Given the description of an element on the screen output the (x, y) to click on. 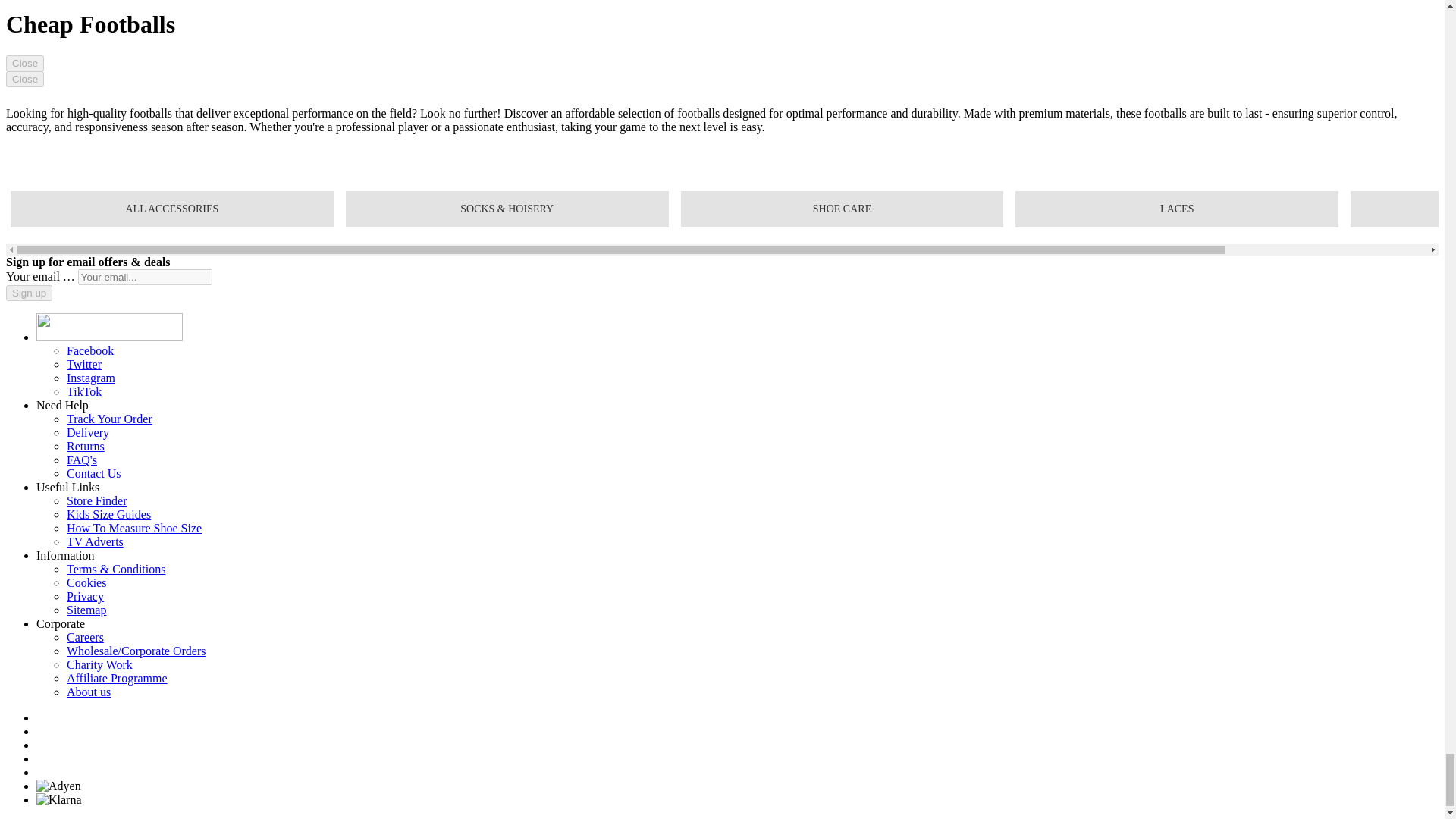
Close (24, 78)
Sign up (28, 293)
Close (24, 63)
